Given the description of an element on the screen output the (x, y) to click on. 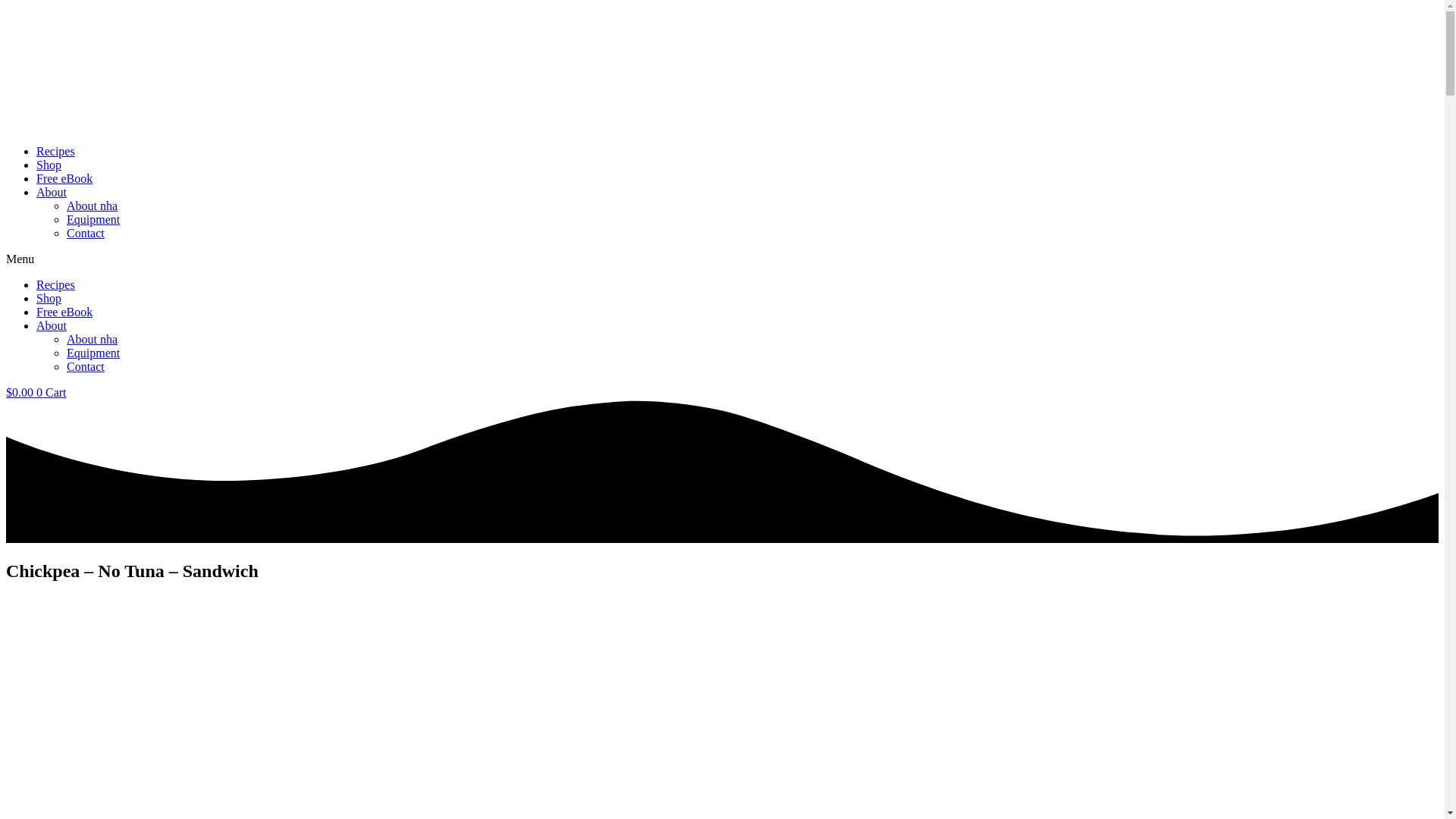
Contact (85, 232)
Equipment (92, 352)
Shop (48, 297)
About (51, 192)
About (51, 325)
About nha (91, 205)
Contact (85, 366)
Free eBook (64, 311)
Recipes (55, 151)
Recipes (55, 284)
